Given the description of an element on the screen output the (x, y) to click on. 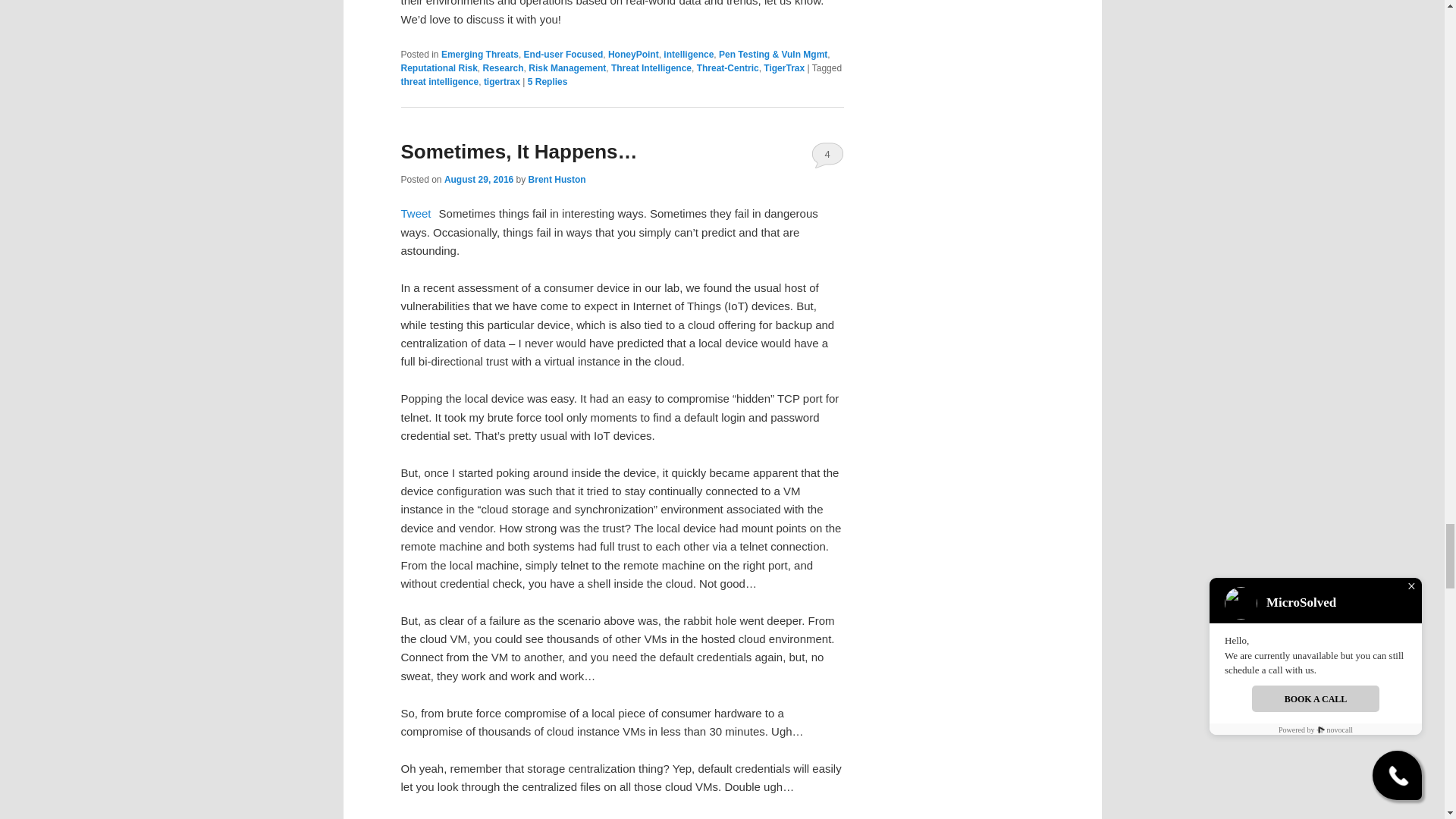
View all posts by Brent Huston (557, 179)
10:40 am (478, 179)
